Given the description of an element on the screen output the (x, y) to click on. 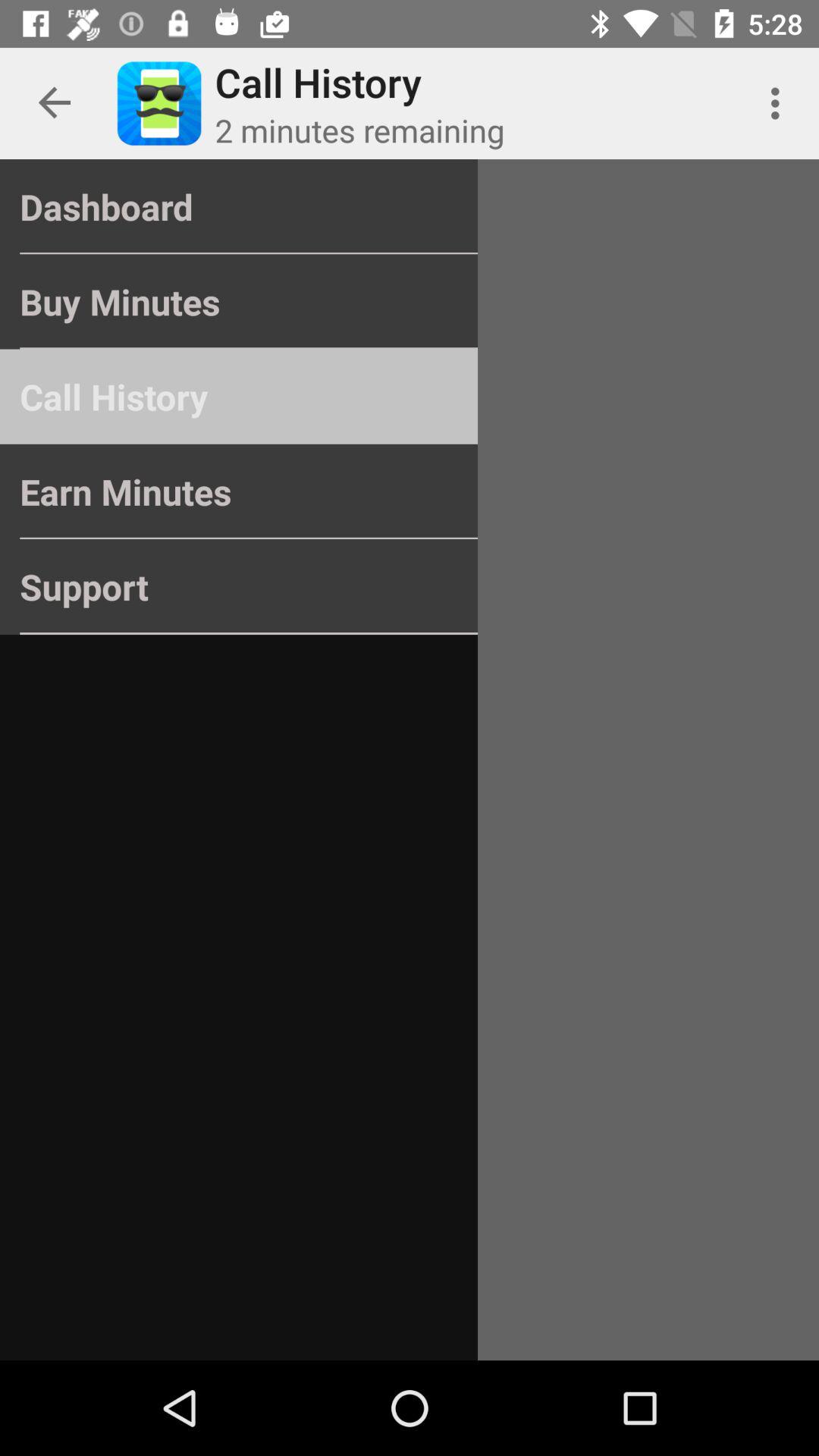
tap dashboard (238, 206)
